Given the description of an element on the screen output the (x, y) to click on. 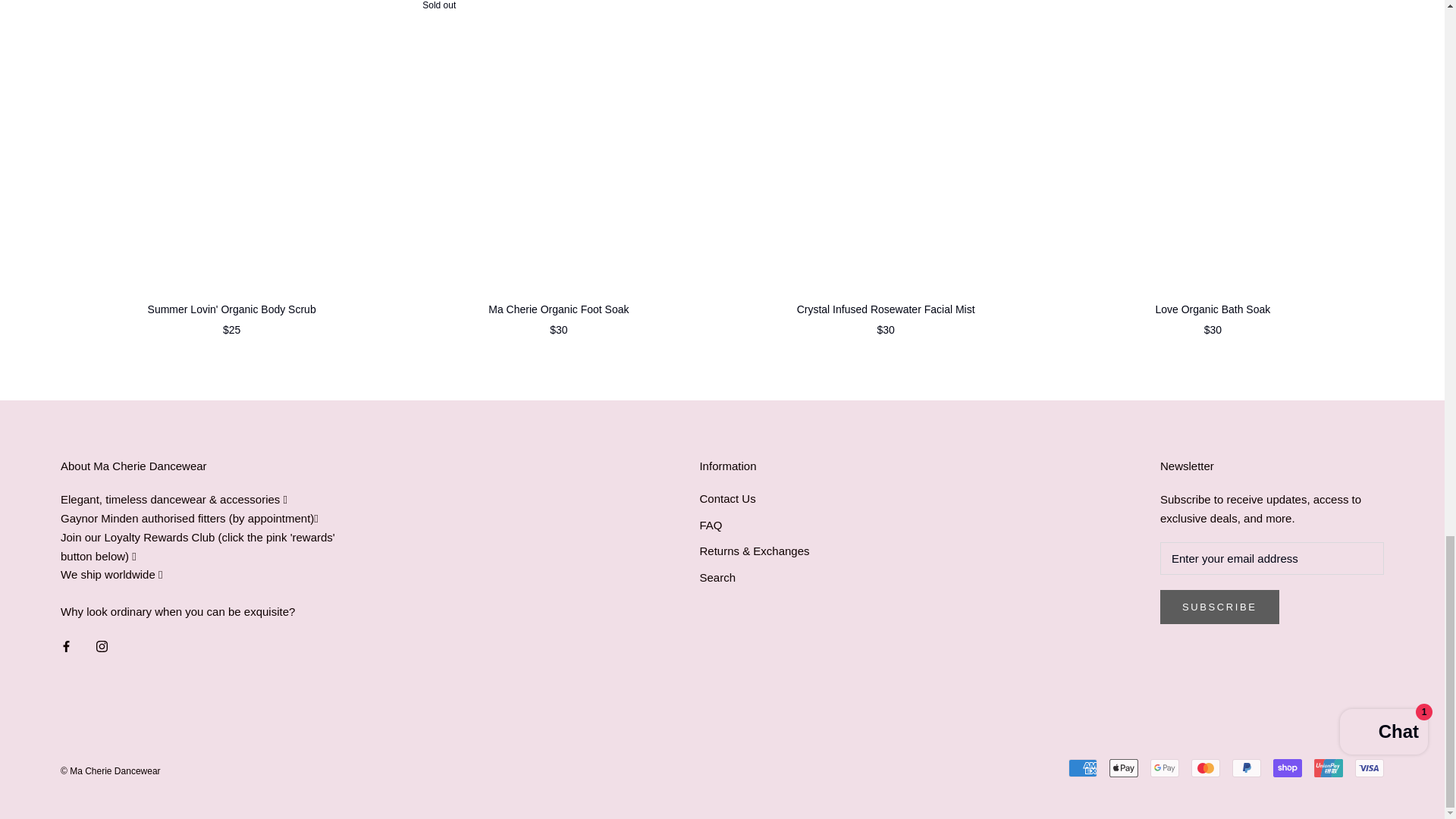
Union Pay (1328, 768)
PayPal (1245, 768)
Google Pay (1164, 768)
Shop Pay (1286, 768)
Mastercard (1205, 768)
Apple Pay (1123, 768)
American Express (1082, 768)
Visa (1369, 768)
